Given the description of an element on the screen output the (x, y) to click on. 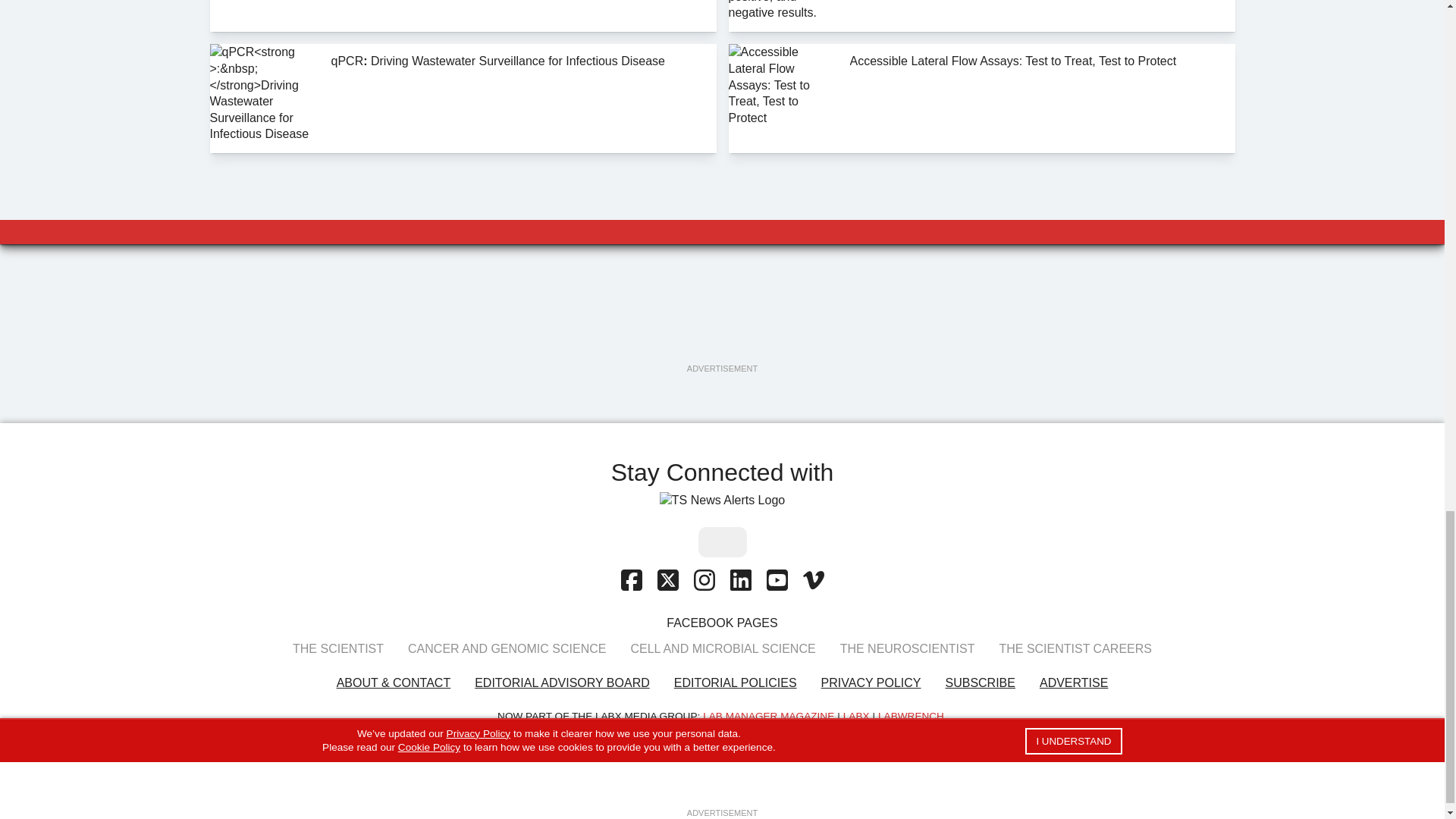
Twitter (667, 581)
Row of cows being milked in a dairy farm. (263, 15)
Facebook (630, 581)
